Given the description of an element on the screen output the (x, y) to click on. 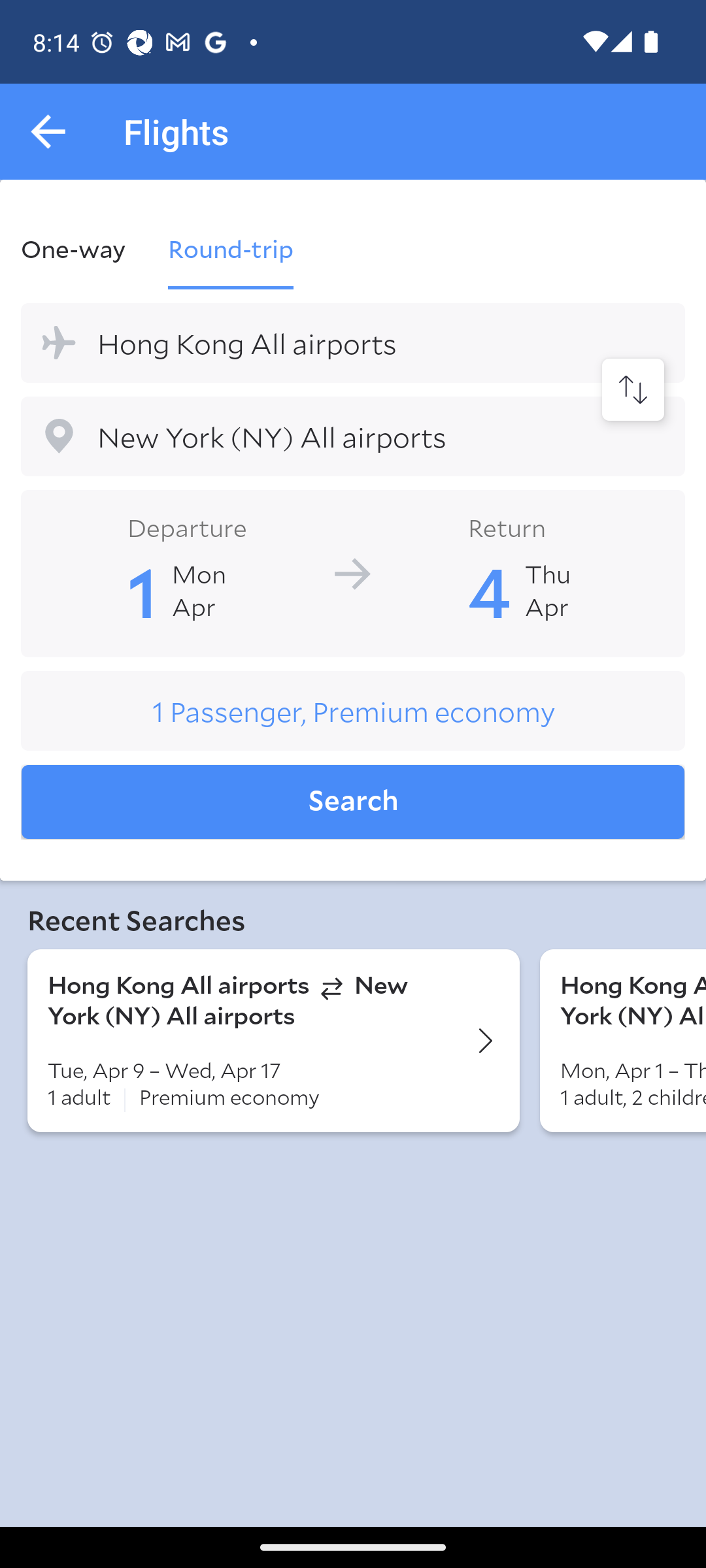
One-way (83, 248)
Hong Kong All airports (352, 342)
New York (NY) All airports (352, 436)
Departure 1 Mon Apr Return 4 Thu Apr (352, 572)
1 Passenger, Premium economy (352, 711)
Search  Search (352, 801)
